Given the description of an element on the screen output the (x, y) to click on. 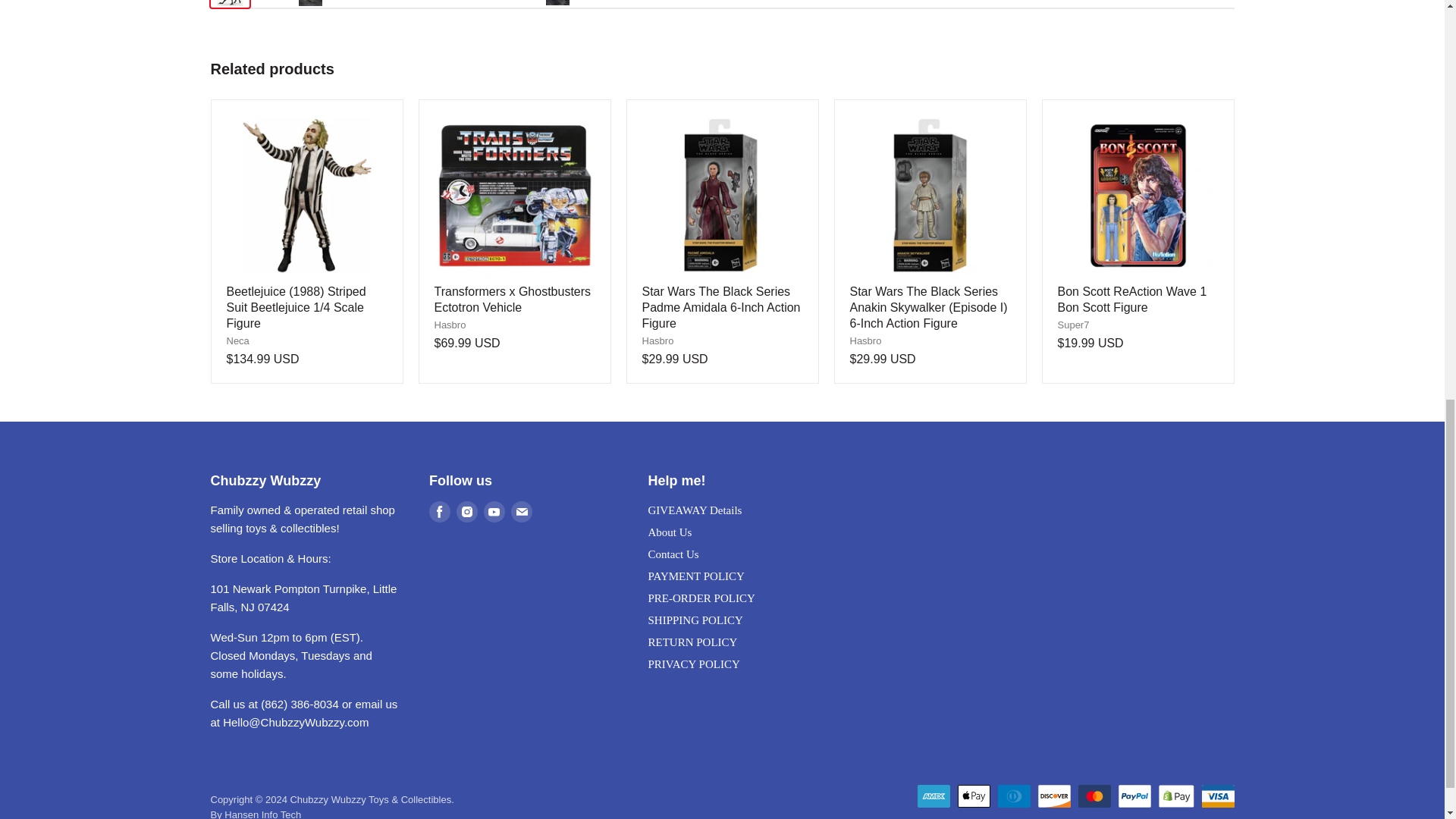
Facebook (439, 510)
Youtube (494, 510)
Instagram (466, 510)
E-mail (521, 510)
